Given the description of an element on the screen output the (x, y) to click on. 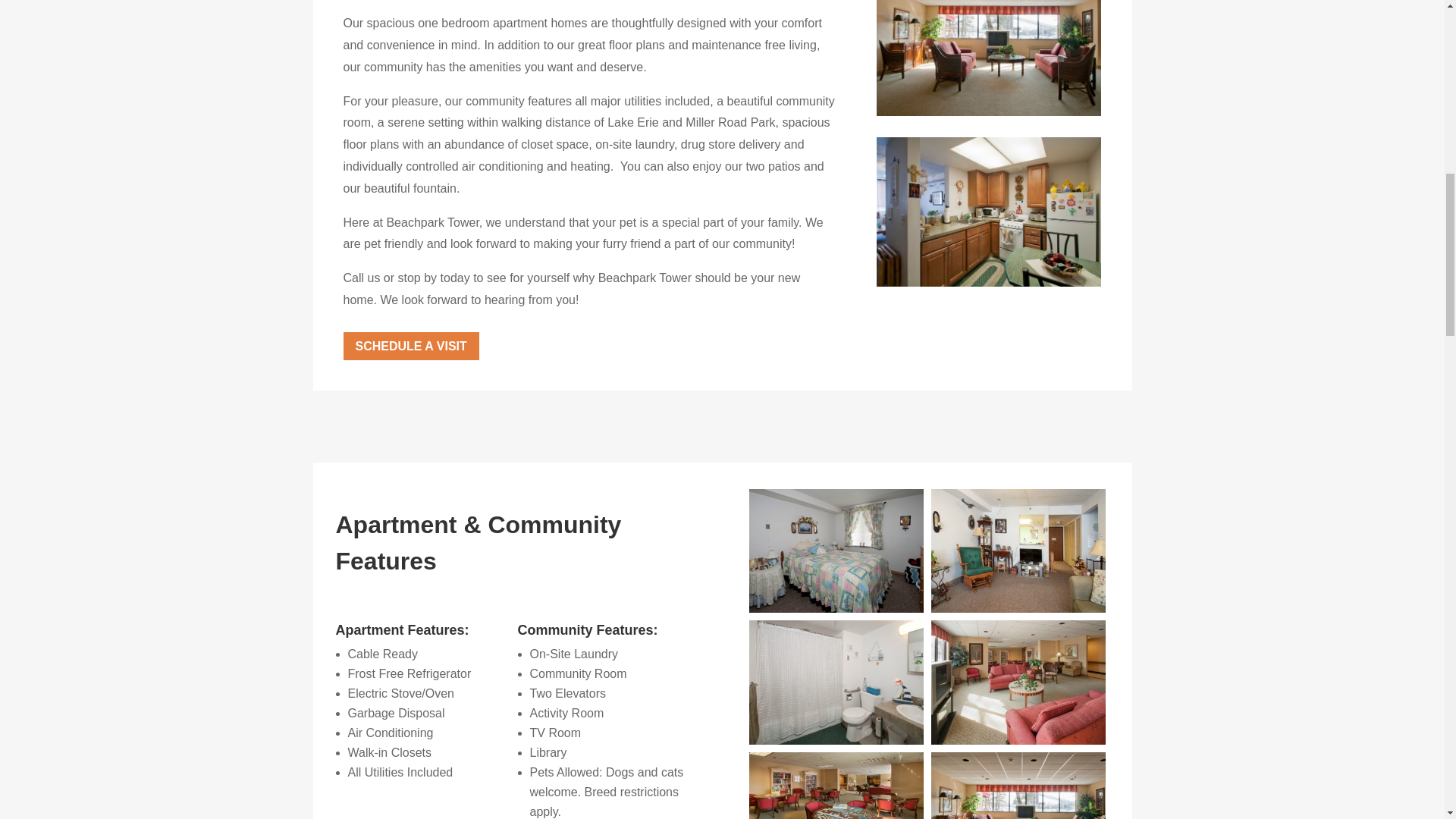
Beachpark Tower Community Room (989, 111)
Bedroom (836, 608)
Living Room (1018, 608)
Beachpark Tower Kitchen (989, 210)
Beachpark Tower Kitchen (989, 282)
Beachpark Tower Community Room (989, 58)
Bathroom (836, 739)
Community Room (1018, 739)
SCHEDULE A VISIT (410, 346)
